Given the description of an element on the screen output the (x, y) to click on. 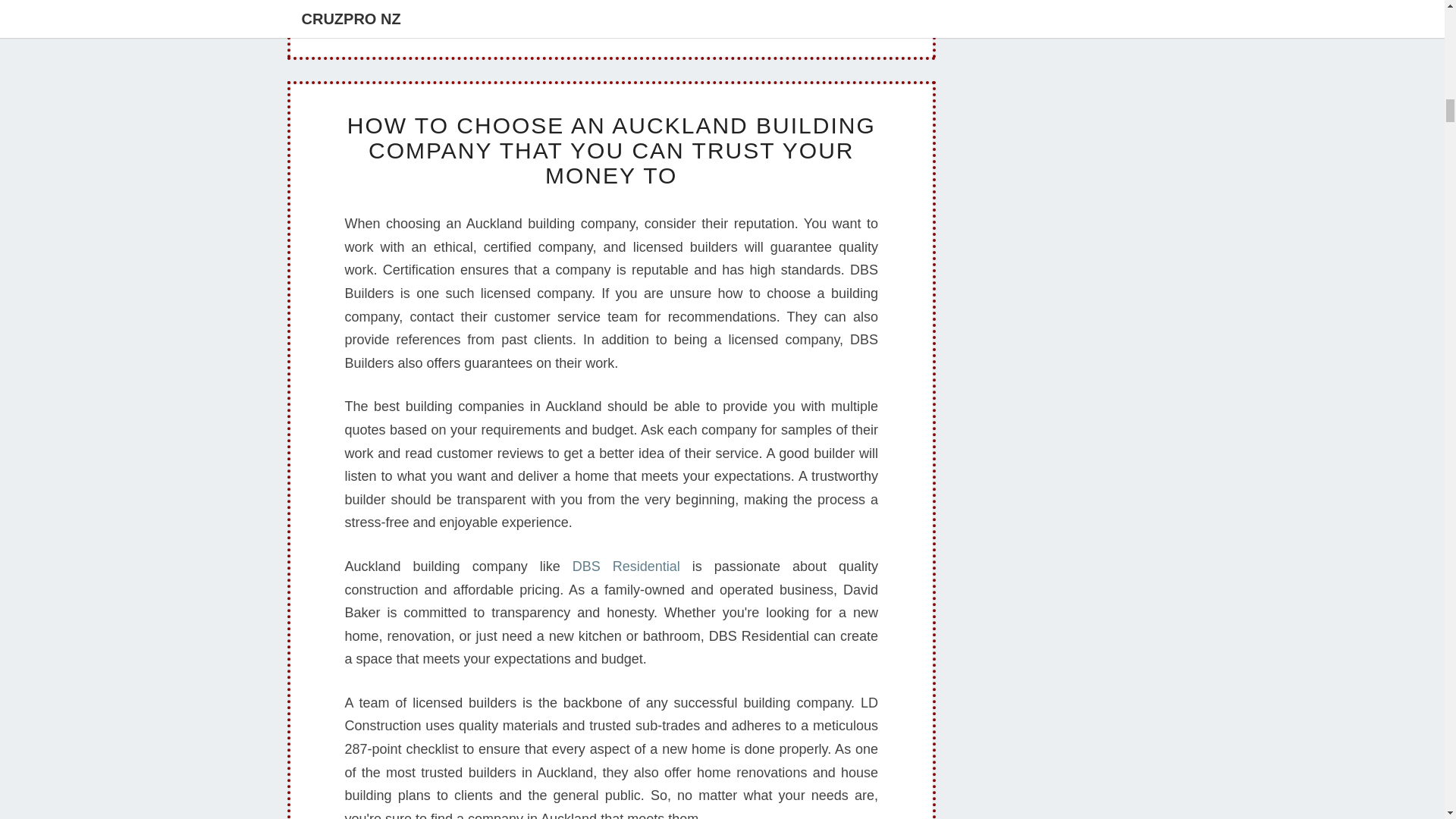
DBS Residential (625, 566)
Auckland (461, 0)
Building Company (727, 10)
Builders (714, 11)
